Given the description of an element on the screen output the (x, y) to click on. 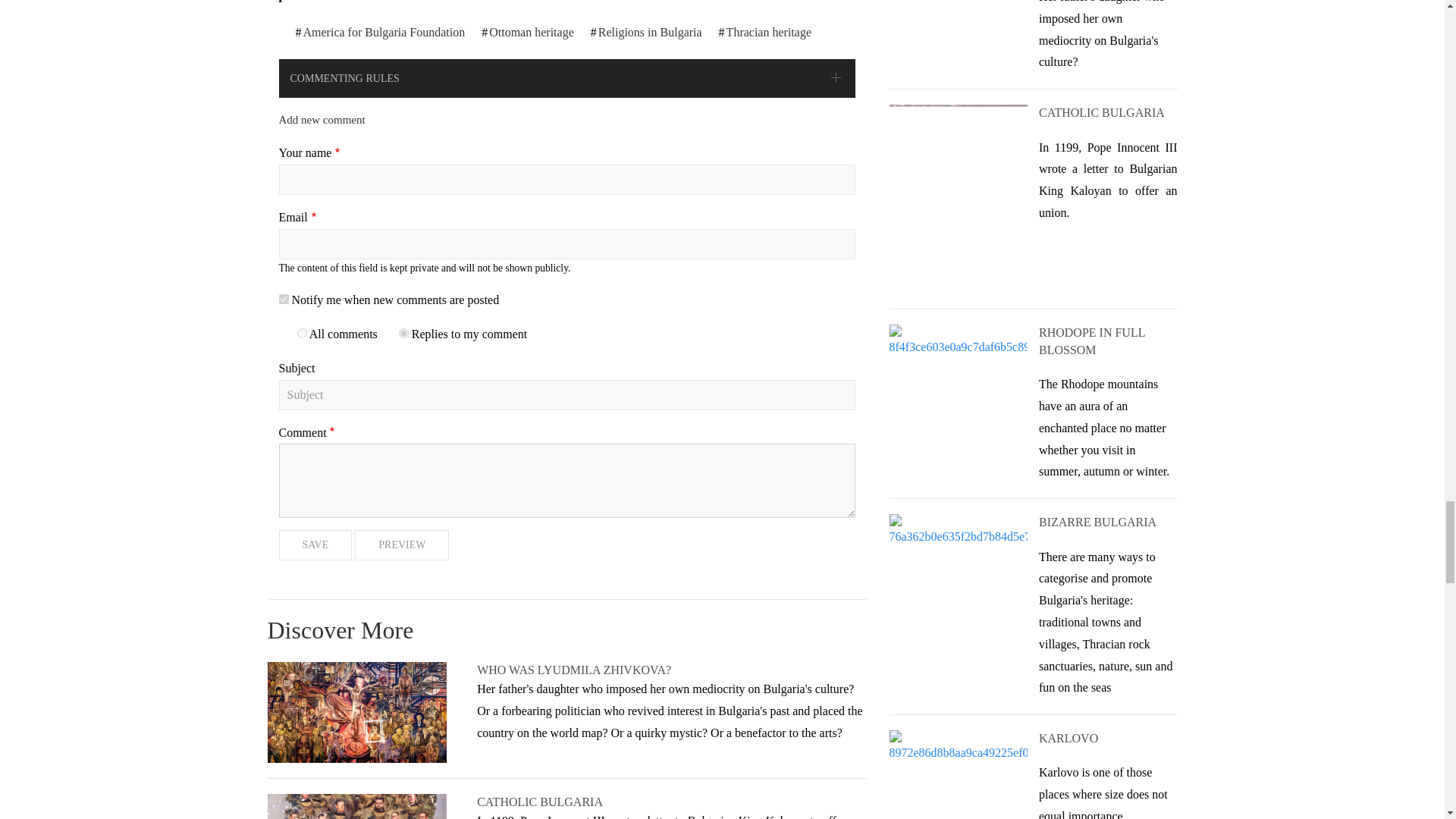
1 (283, 298)
1 (302, 333)
Save (315, 544)
2 (403, 333)
Preview (401, 544)
